Given the description of an element on the screen output the (x, y) to click on. 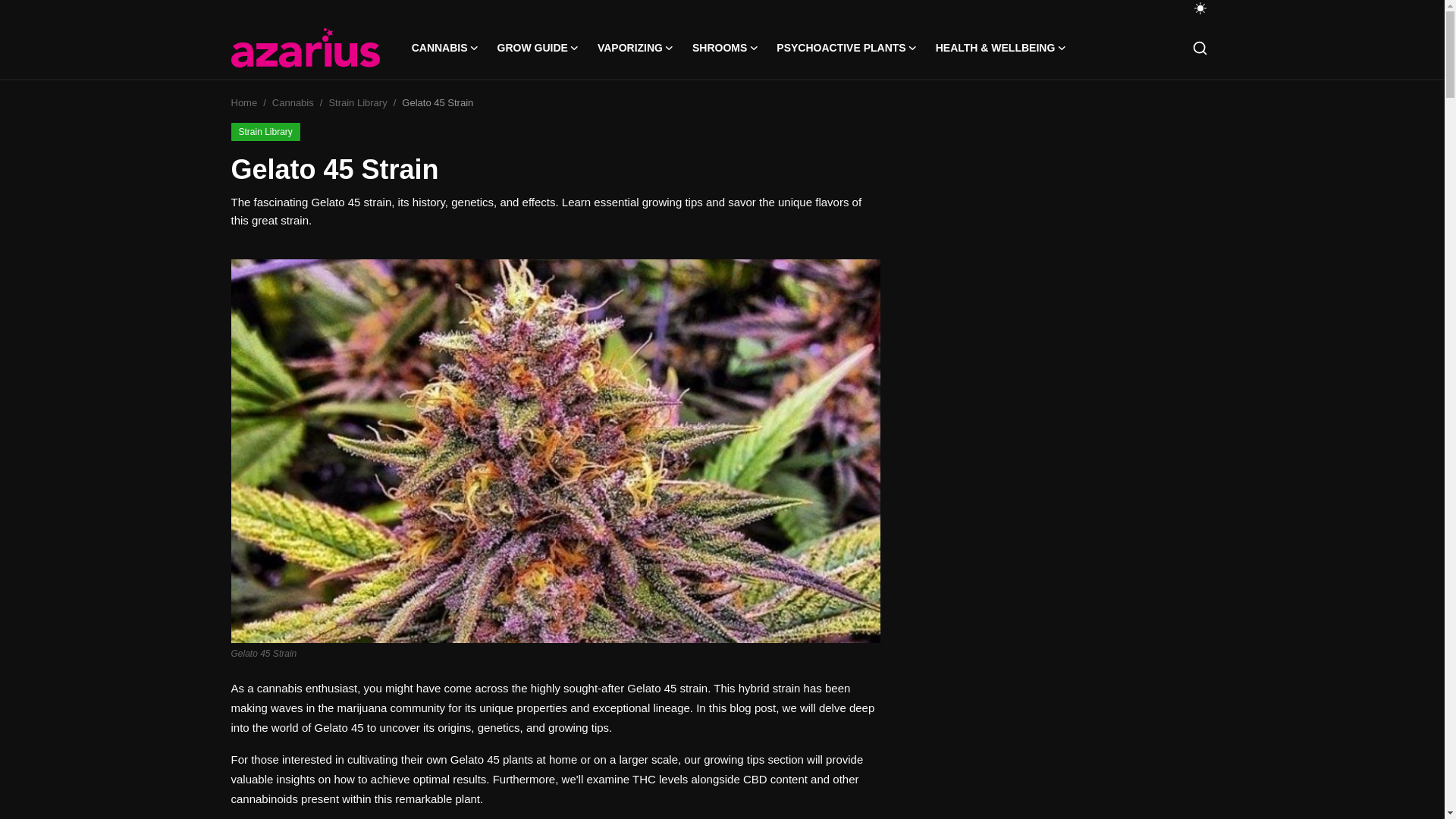
CANNABIS (445, 47)
GROW GUIDE (537, 47)
PSYCHOACTIVE PLANTS (846, 47)
light (1199, 8)
SHROOMS (724, 47)
VAPORIZING (635, 47)
